Given the description of an element on the screen output the (x, y) to click on. 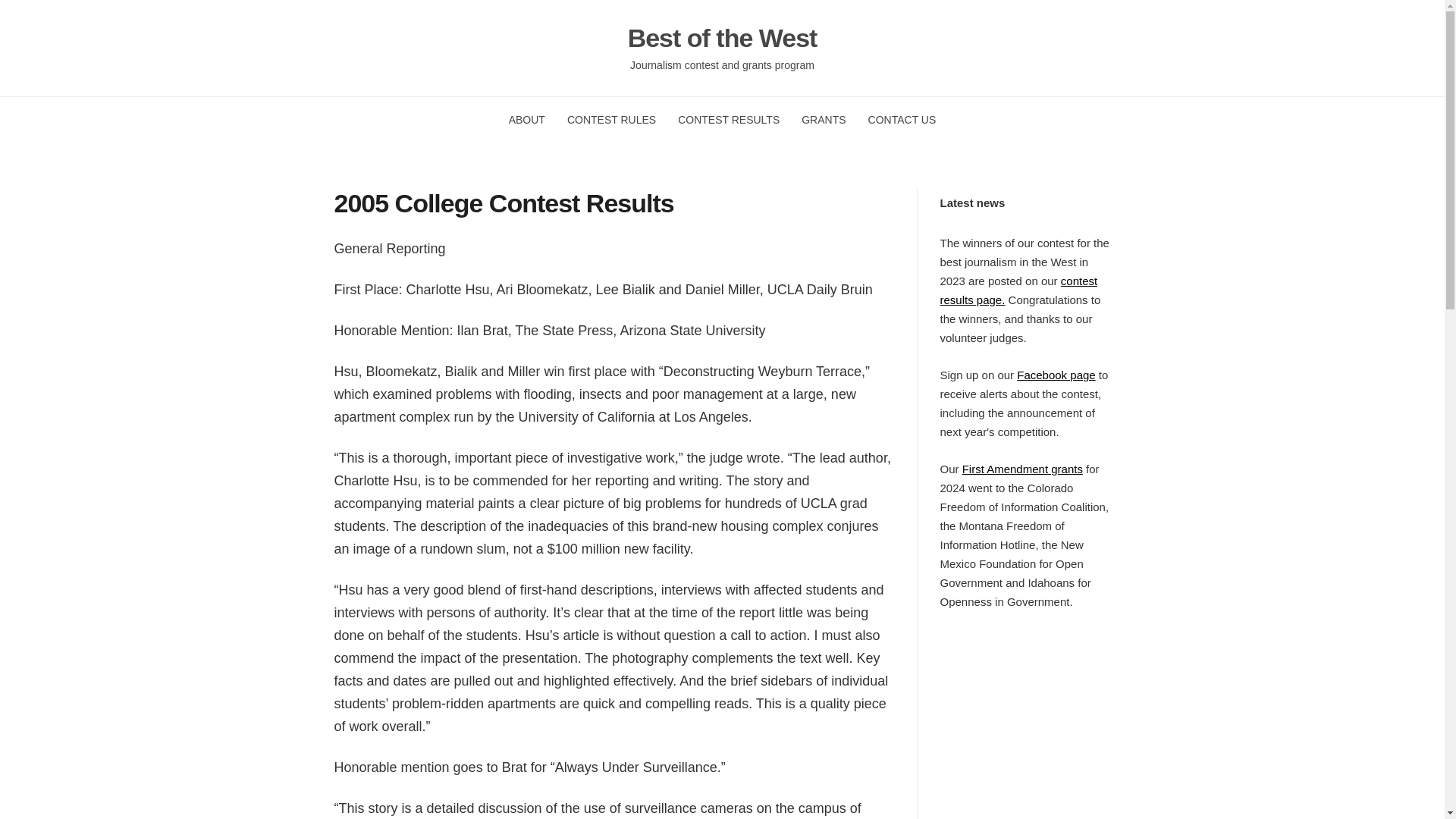
GRANTS (823, 119)
First Amendment grants (1022, 468)
Best of the West (721, 38)
CONTACT US (901, 119)
contest results page. (1018, 290)
CONTEST RESULTS (728, 119)
CONTEST RULES (611, 119)
Facebook page (1055, 374)
ABOUT (526, 119)
